Given the description of an element on the screen output the (x, y) to click on. 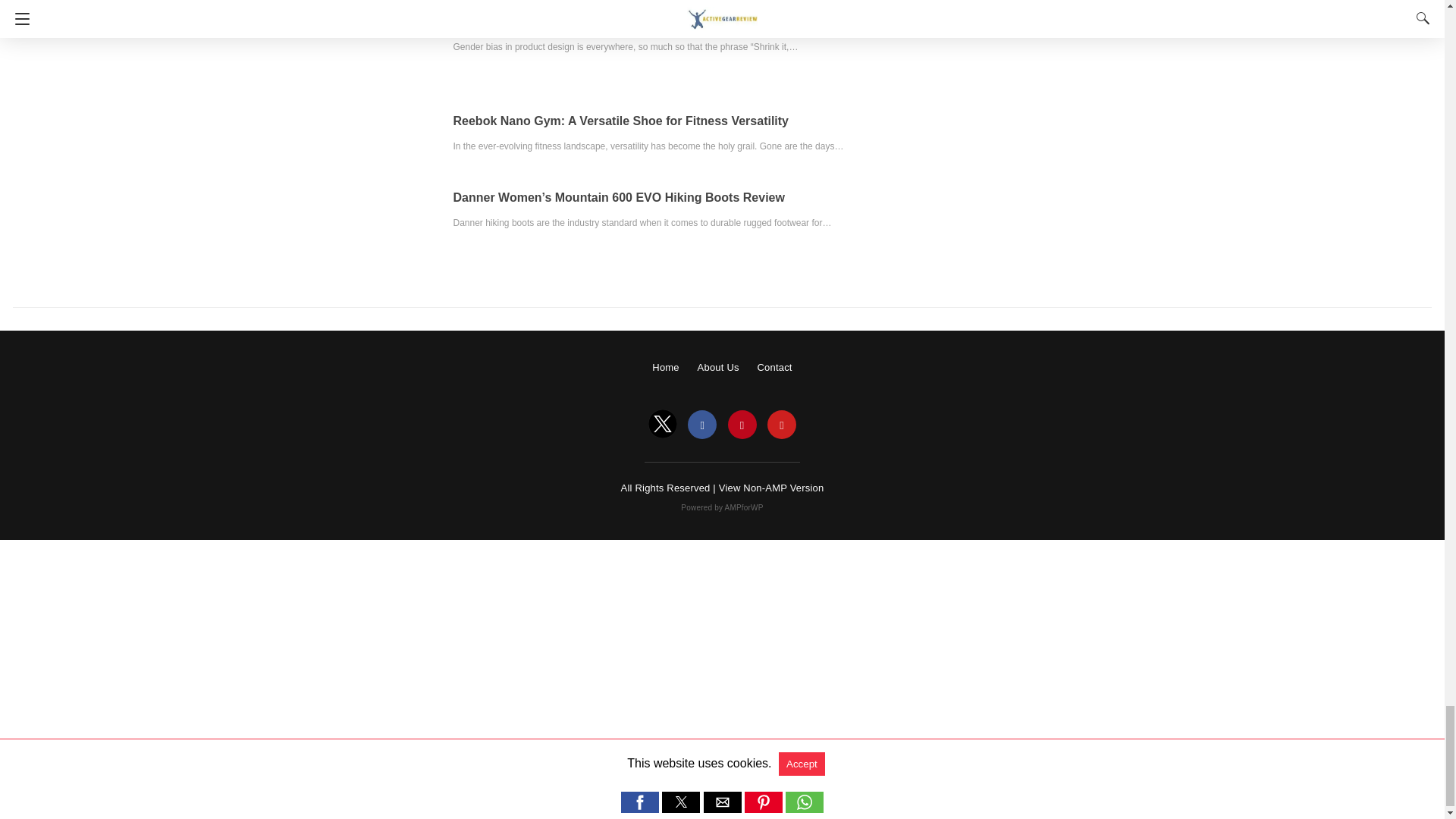
Powered by AMPforWP (721, 507)
Reebok Nano Gym: A Versatile Shoe for Fitness Versatility (620, 120)
twitter profile (662, 425)
Reebok Nano Gym: A Versatile Shoe for Fitness Versatility (620, 120)
facebook profile (701, 425)
Jack Wolfskin Cyrox Texapore Mid W Hiking Boot Review (618, 21)
Contact (774, 367)
Jack Wolfskin Cyrox Texapore Mid W Hiking Boot Review (618, 21)
About Us (718, 367)
pinterest profile (742, 425)
